Given the description of an element on the screen output the (x, y) to click on. 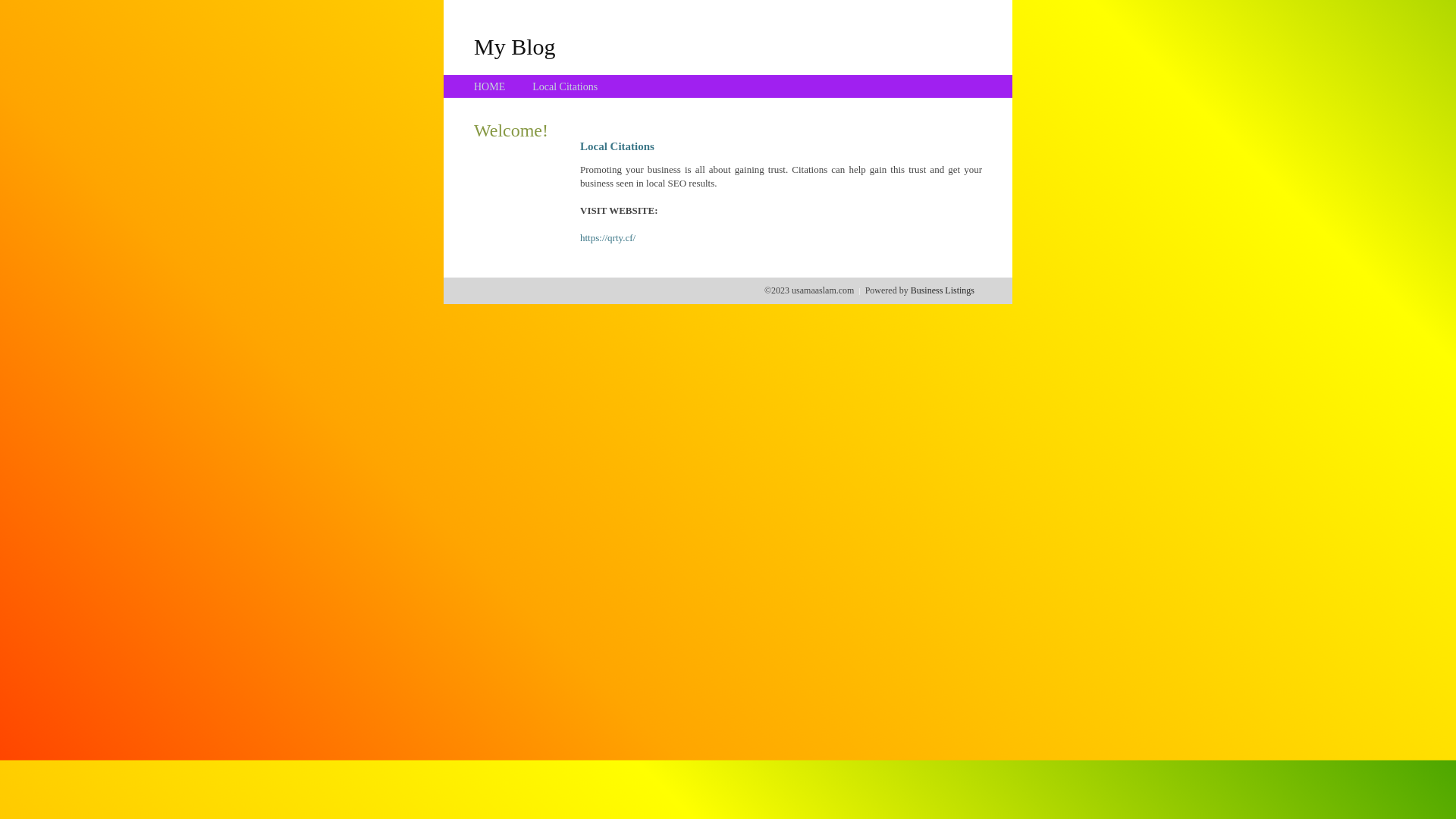
My Blog Element type: text (514, 46)
https://qrty.cf/ Element type: text (607, 237)
Local Citations Element type: text (564, 86)
Business Listings Element type: text (942, 290)
HOME Element type: text (489, 86)
